Given the description of an element on the screen output the (x, y) to click on. 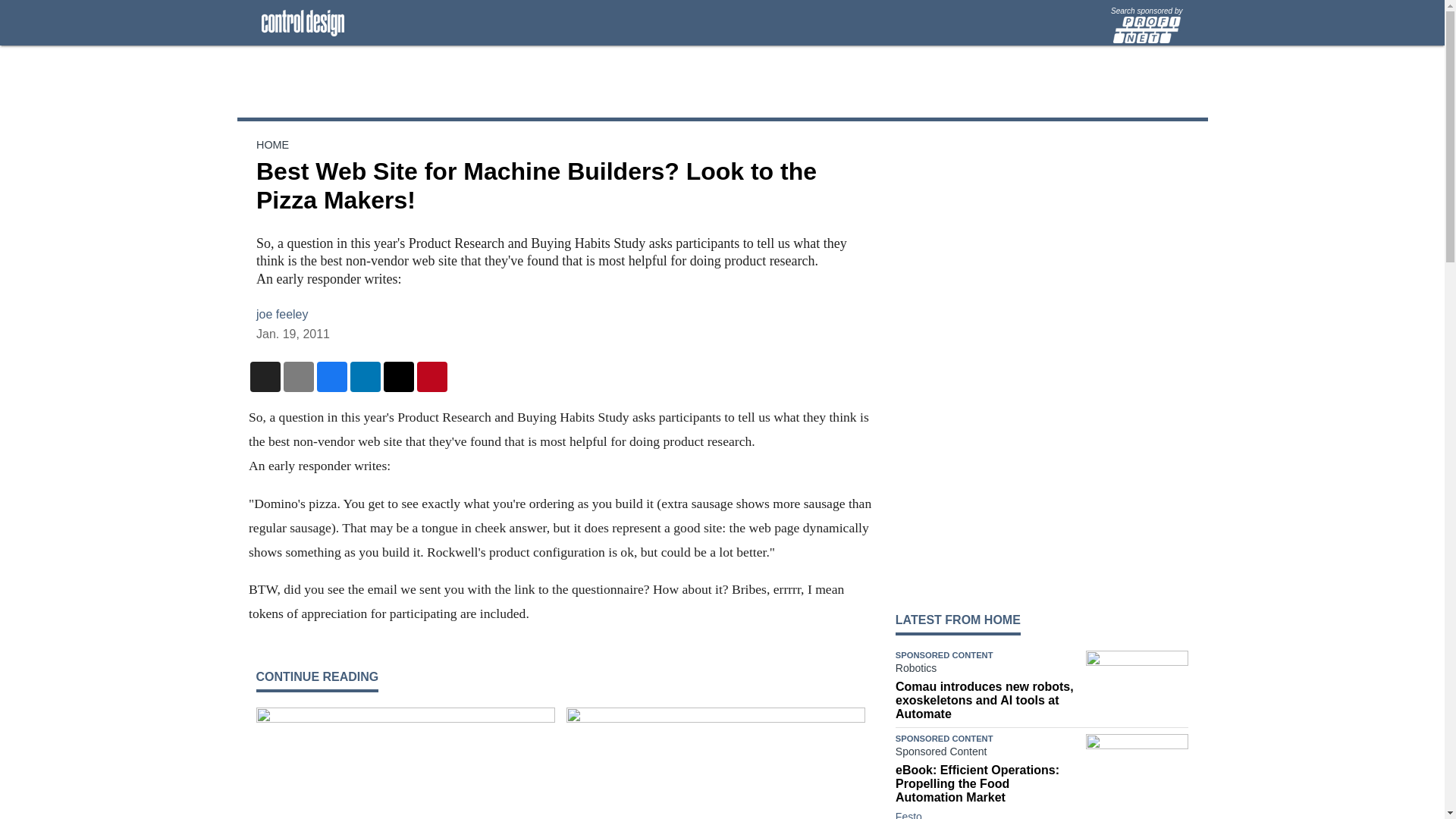
Festo (908, 814)
joe feeley (282, 314)
HOME (272, 144)
Robotics (986, 670)
Sponsored Content (986, 754)
